Given the description of an element on the screen output the (x, y) to click on. 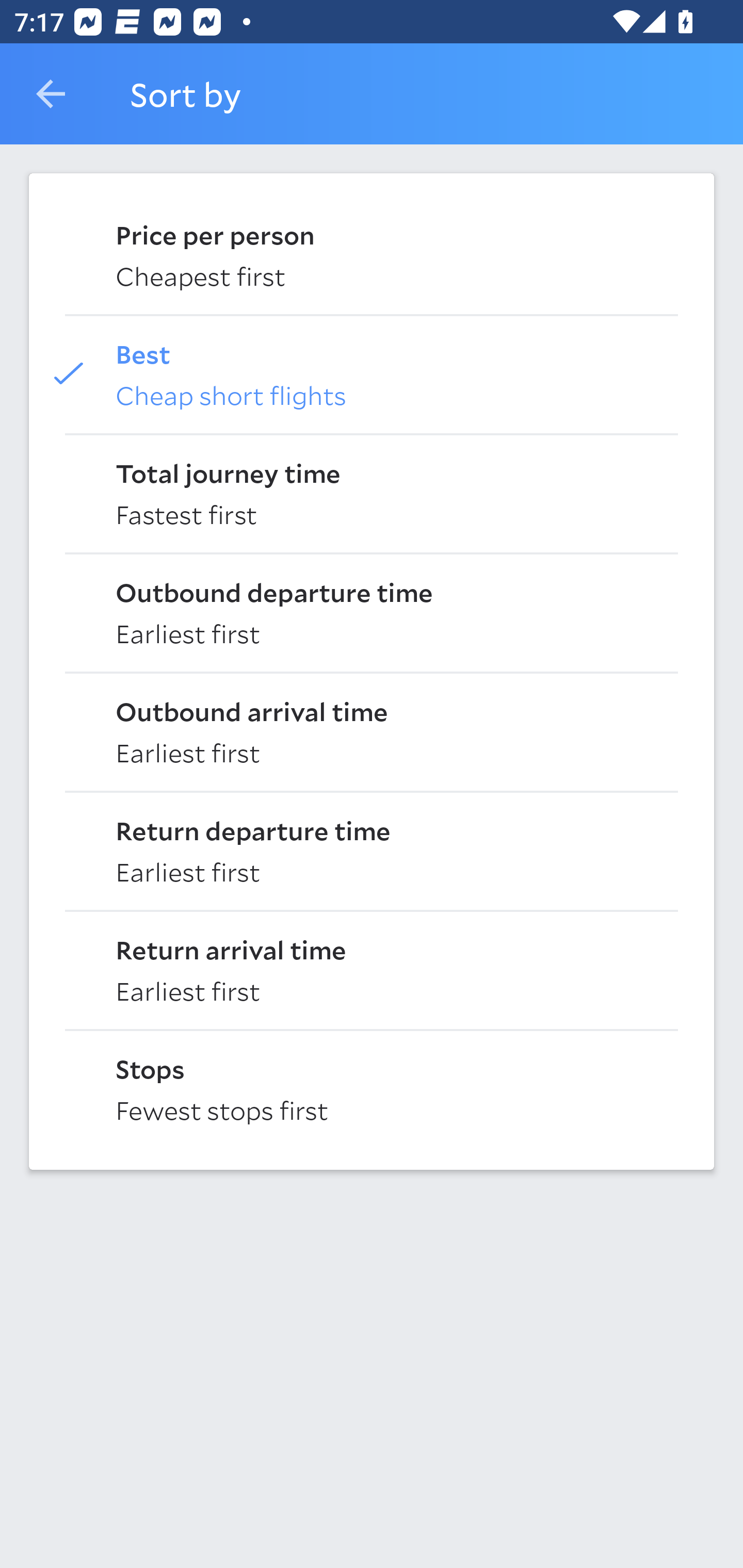
Navigate up (50, 93)
Price per person Cheapest first (371, 253)
Best Cheap short flights (371, 372)
Total journey time Fastest first (371, 491)
Outbound departure time Earliest first (371, 611)
Outbound arrival time Earliest first (371, 730)
Return departure time Earliest first (371, 849)
Return arrival time Earliest first (371, 968)
Stops Fewest stops first (371, 1087)
